Given the description of an element on the screen output the (x, y) to click on. 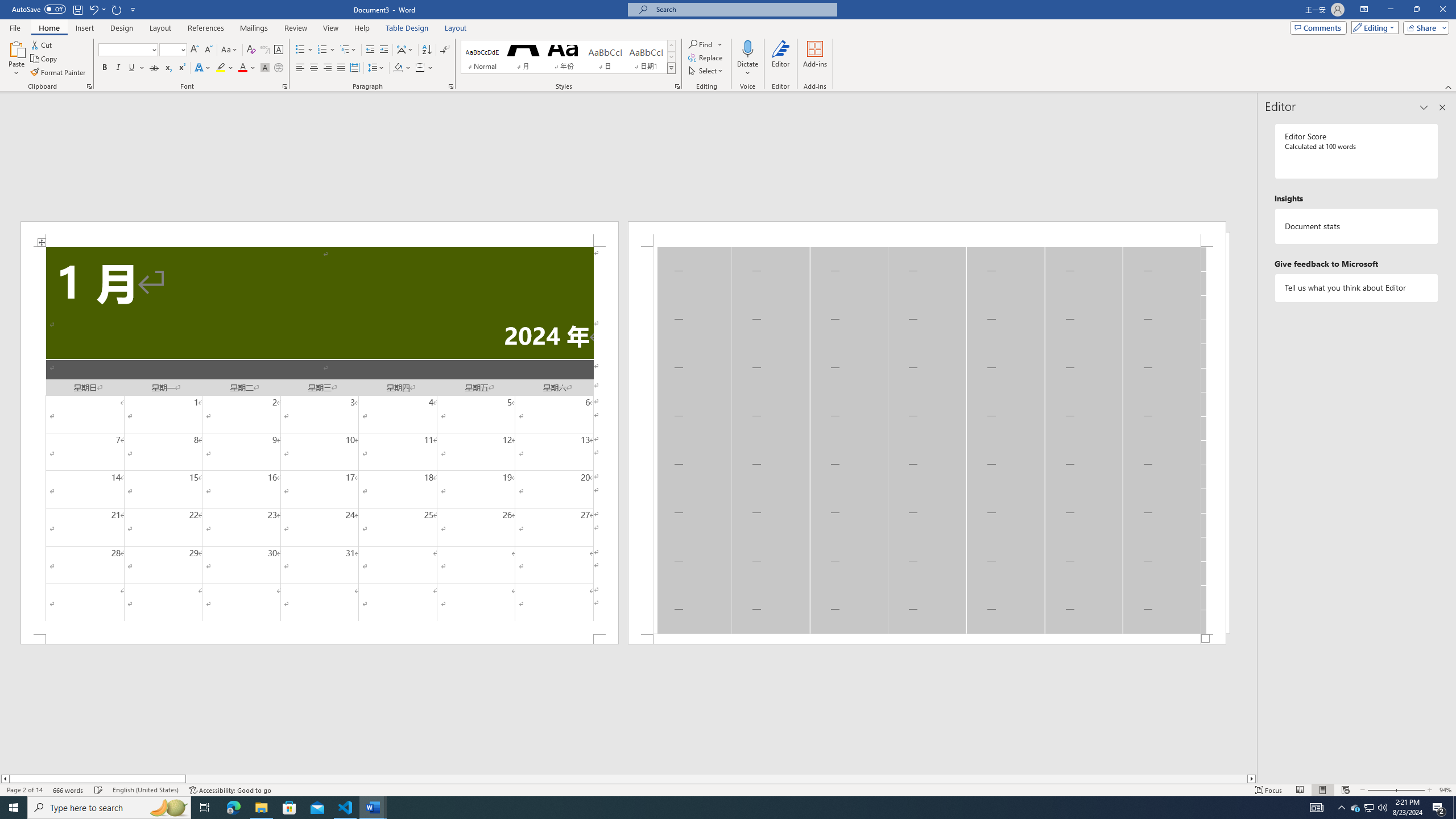
Format Painter (58, 72)
Page 2 content (926, 439)
Asian Layout (405, 49)
Italic (118, 67)
Row Down (670, 56)
Class: MsoCommandBar (728, 789)
Accessibility Checker Accessibility: Good to go (230, 790)
Character Border (278, 49)
Cut (42, 44)
